Given the description of an element on the screen output the (x, y) to click on. 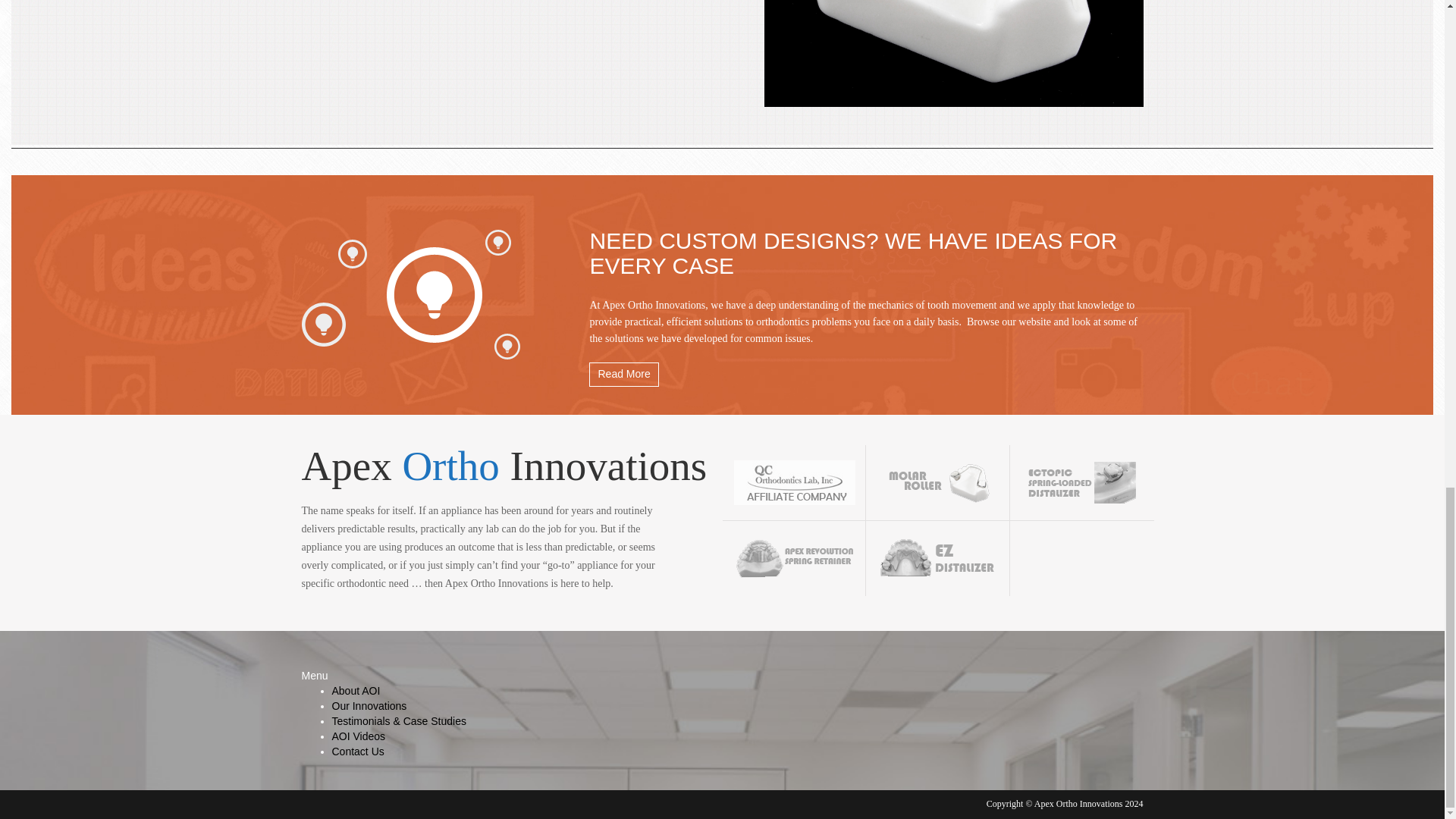
Our Innovations (369, 705)
About AOI (355, 690)
Read More (623, 374)
AOI Videos (358, 736)
Contact Us (357, 751)
